Given the description of an element on the screen output the (x, y) to click on. 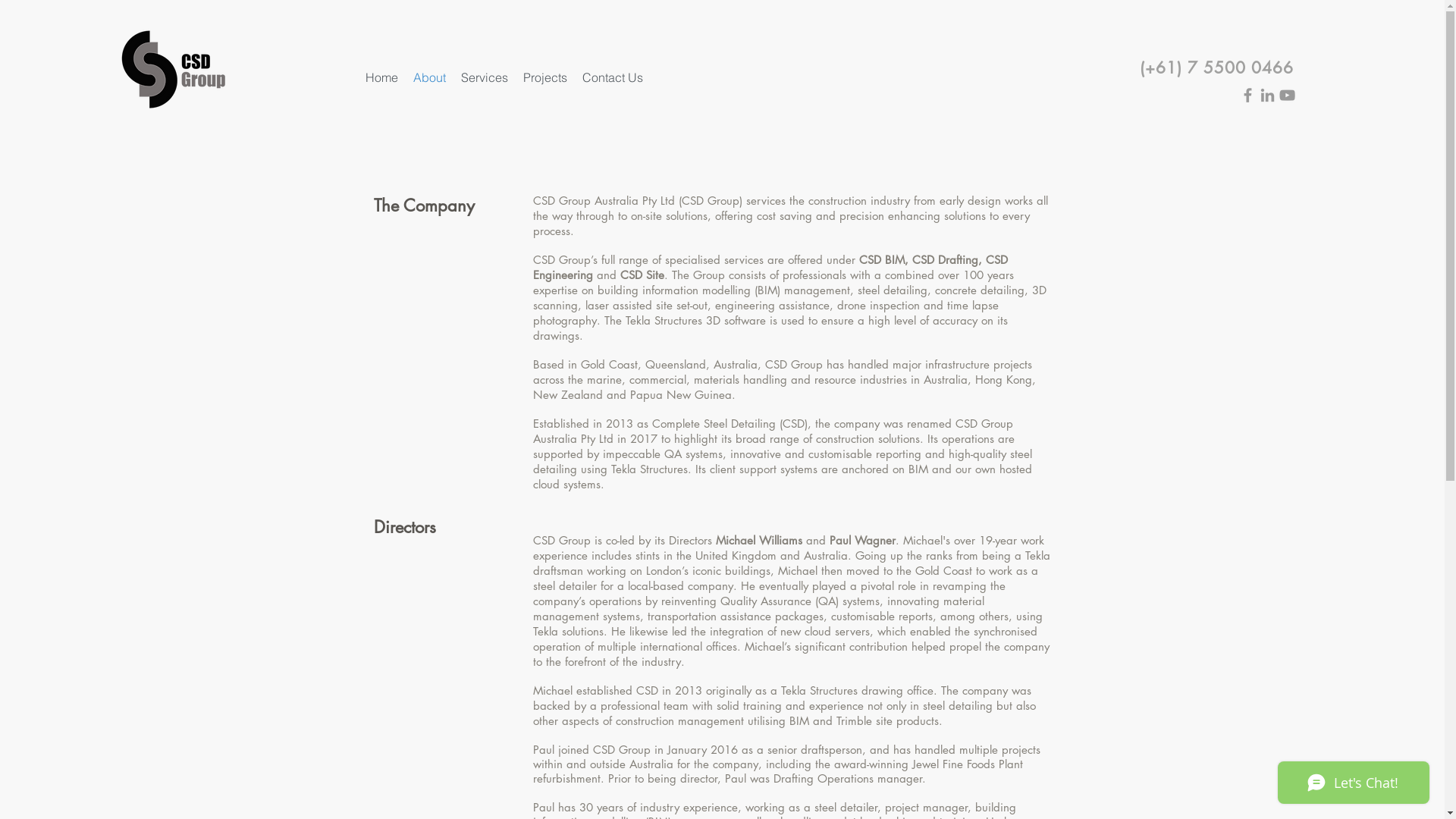
About Element type: text (428, 77)
Contact Us Element type: text (612, 77)
Home Element type: text (381, 77)
Services Element type: text (484, 77)
Projects Element type: text (544, 77)
